Given the description of an element on the screen output the (x, y) to click on. 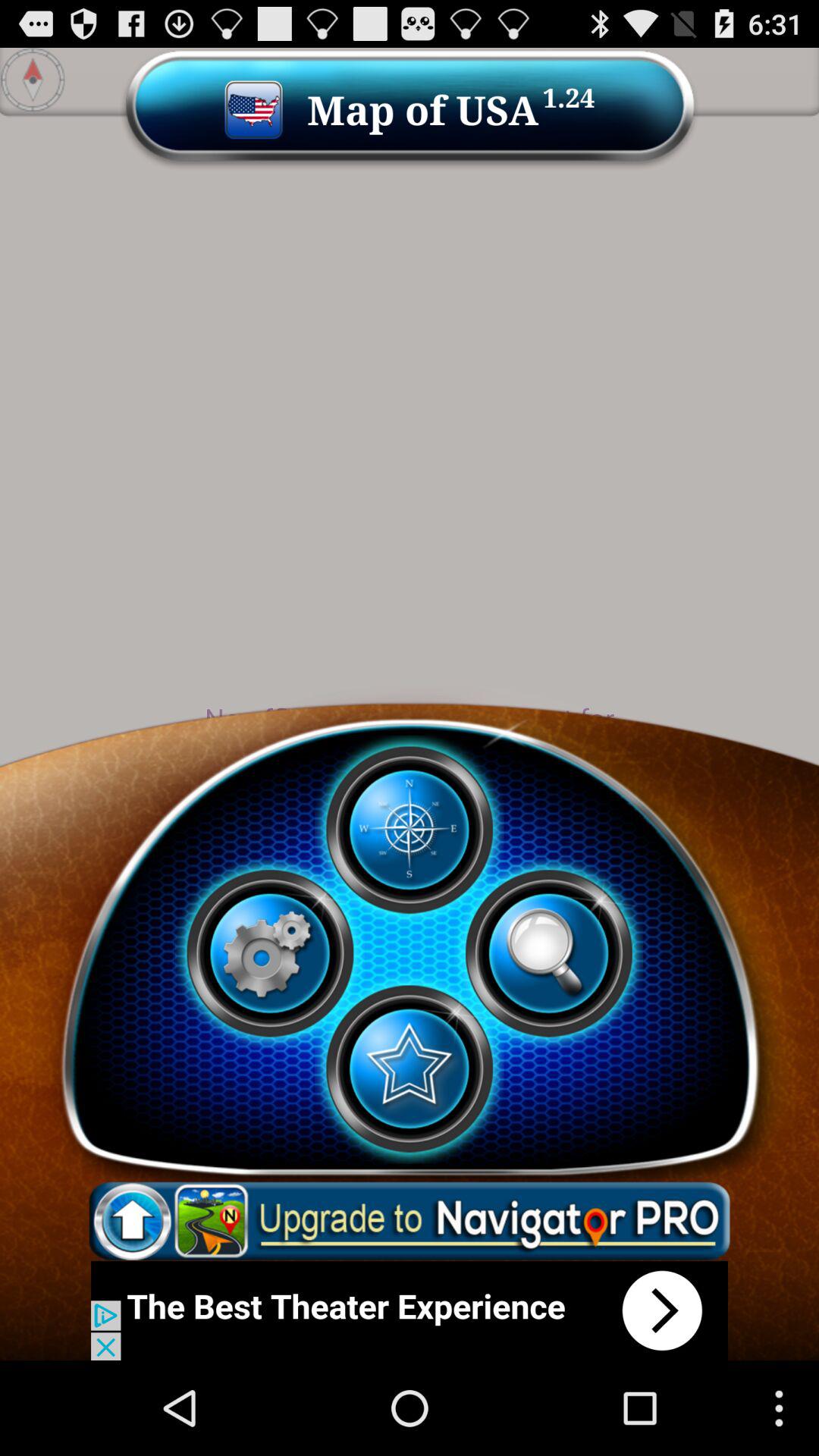
open settings (269, 953)
